Given the description of an element on the screen output the (x, y) to click on. 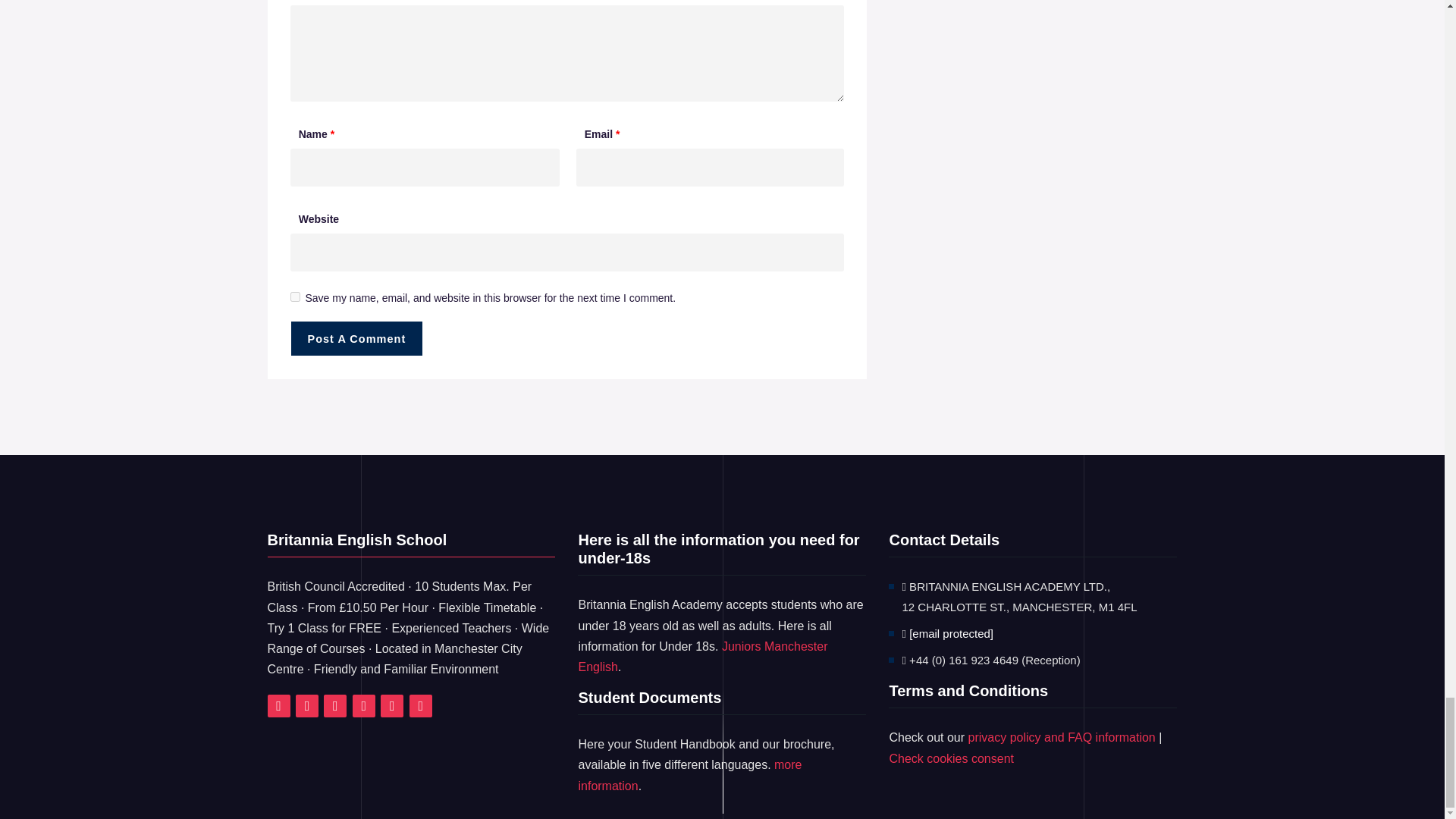
yes (294, 296)
Post a Comment (356, 338)
